Given the description of an element on the screen output the (x, y) to click on. 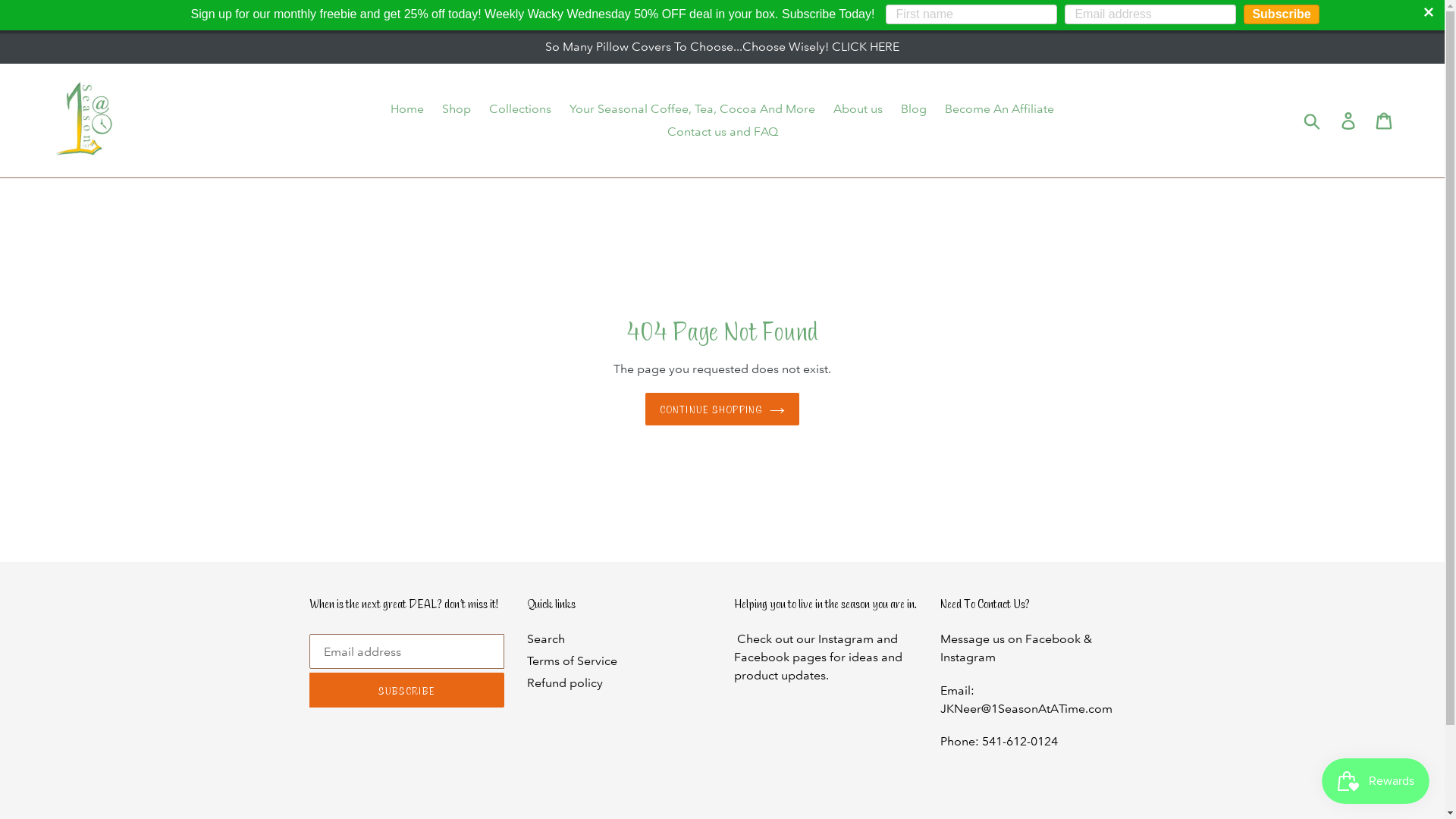
Search Element type: text (545, 638)
Shop Element type: text (456, 108)
Contact us and FAQ Element type: text (722, 131)
Log in Element type: text (1349, 120)
Submit Element type: text (1312, 120)
Terms of Service Element type: text (572, 660)
CONTINUE SHOPPING Element type: text (722, 408)
Your Seasonal Coffee, Tea, Cocoa And More Element type: text (691, 108)
Home Element type: text (406, 108)
About us Element type: text (857, 108)
SUBSCRIBE Element type: text (407, 689)
Cart Element type: text (1384, 120)
Smile.io Rewards Program Launcher Element type: hover (1375, 780)
Collections Element type: text (519, 108)
Become An Affiliate Element type: text (999, 108)
Subscribe Element type: text (1280, 14)
Blog Element type: text (913, 108)
Refund policy Element type: text (564, 682)
So Many Pillow Covers To Choose...Choose Wisely! CLICK HERE Element type: text (722, 46)
